Given the description of an element on the screen output the (x, y) to click on. 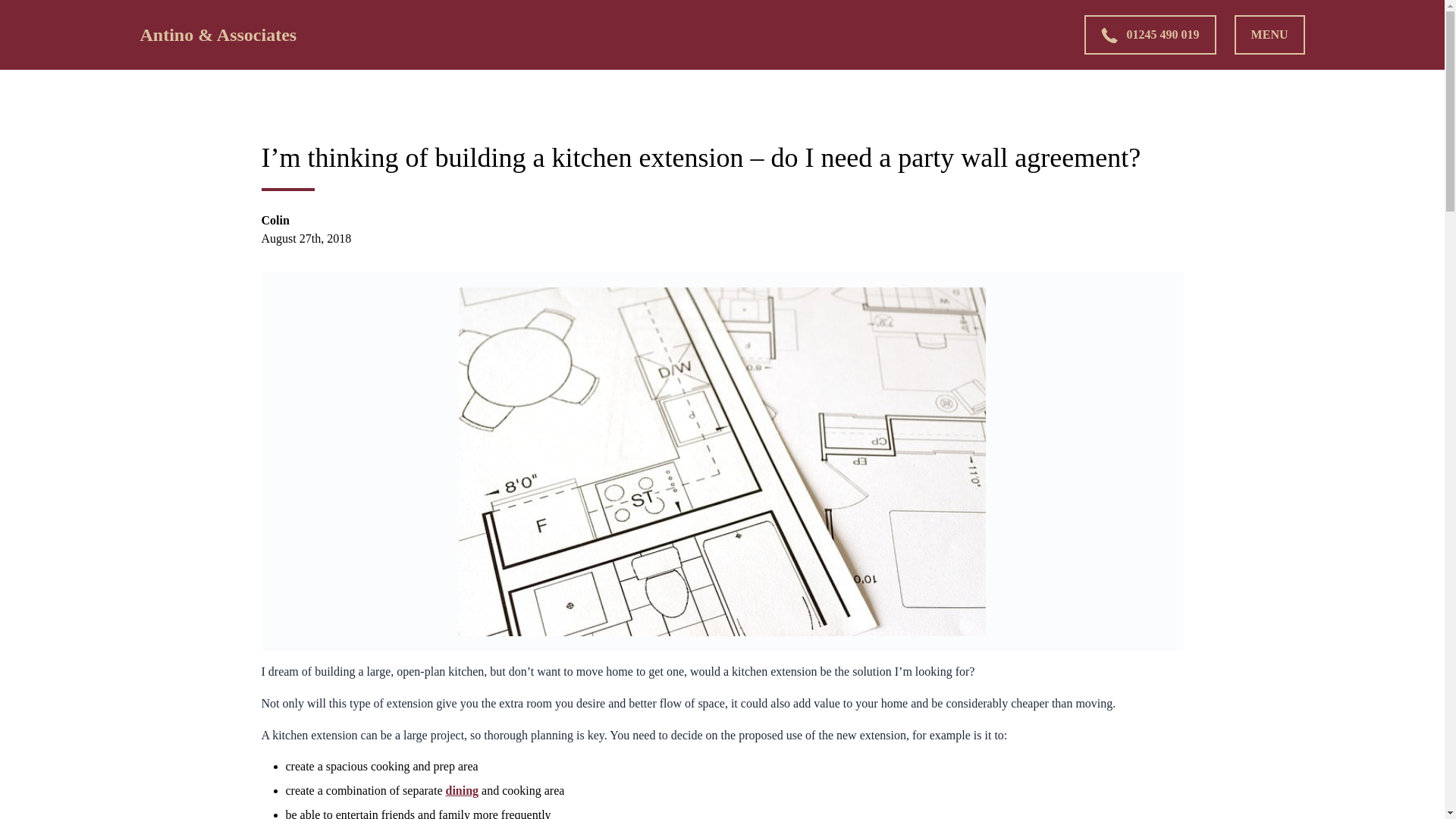
Colin (274, 219)
01245 490 019 (1149, 34)
dining (462, 789)
MENU (1269, 34)
